Given the description of an element on the screen output the (x, y) to click on. 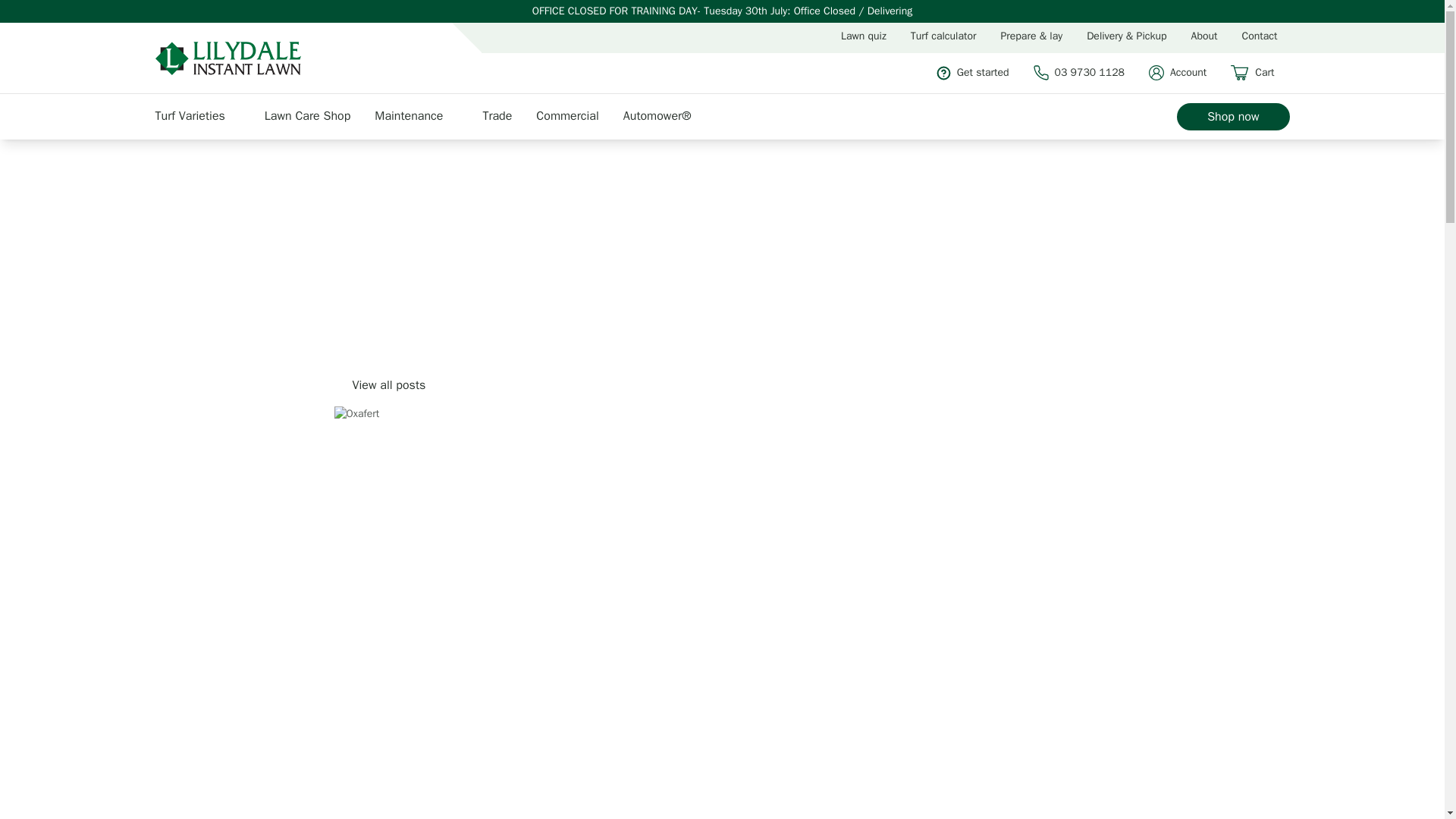
Get a turf recommendation (863, 36)
Shop now (1232, 116)
Turf calculator (943, 36)
Delivery and Pickup (1125, 36)
Contact us (1260, 36)
How to prepare and lay turf (1031, 36)
Maintenance (423, 115)
About (1204, 36)
Turf calculator (943, 36)
Contact (1260, 36)
Trade (504, 115)
About (1204, 36)
Get started (980, 72)
Lawn Care Shop (314, 115)
Cart (1259, 72)
